Given the description of an element on the screen output the (x, y) to click on. 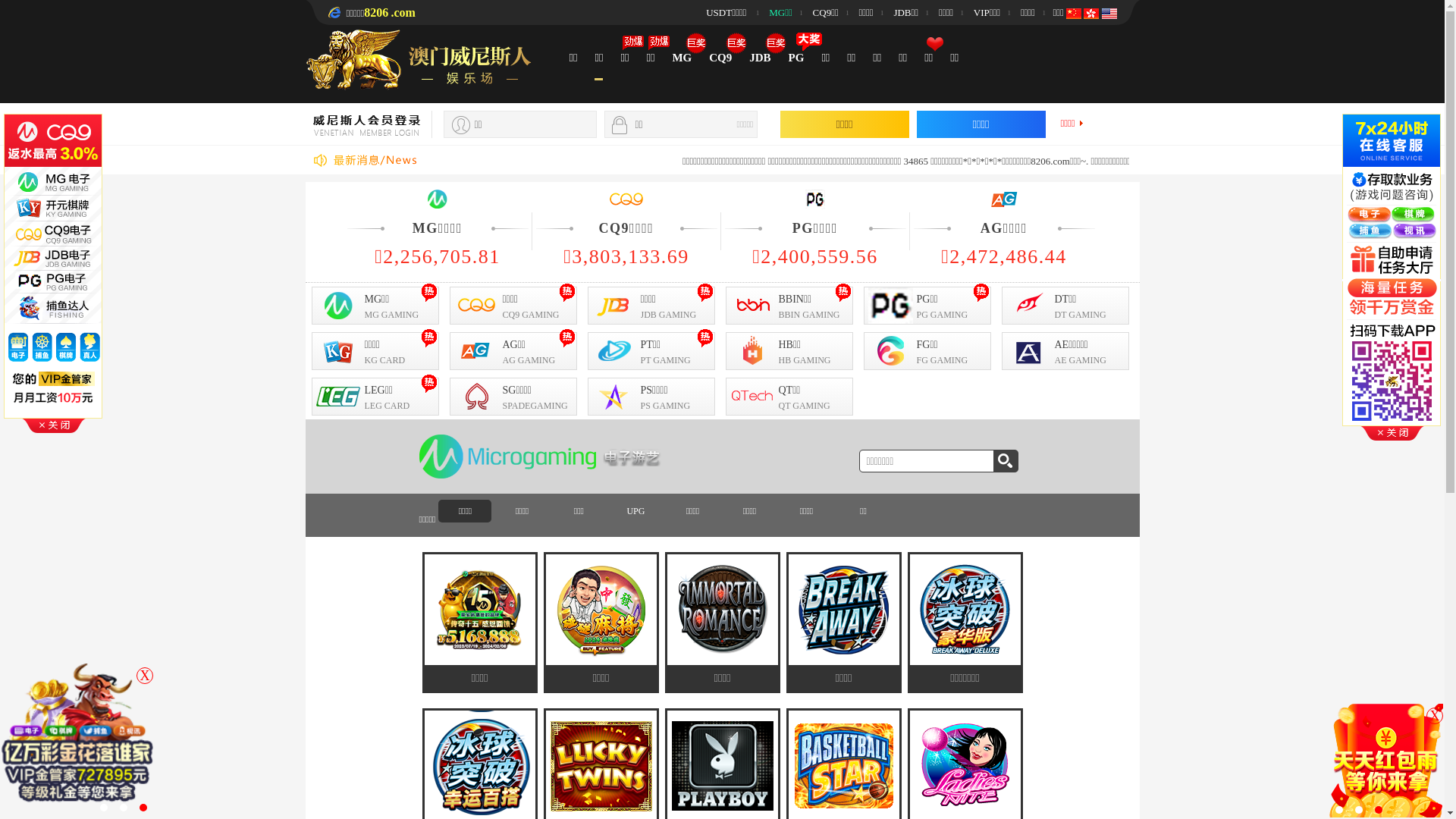
UPG Element type: text (635, 510)
MG Element type: text (681, 57)
X Element type: text (1434, 715)
JDB Element type: text (759, 57)
PG Element type: text (796, 57)
CQ9 Element type: text (720, 57)
X Element type: text (144, 675)
